Given the description of an element on the screen output the (x, y) to click on. 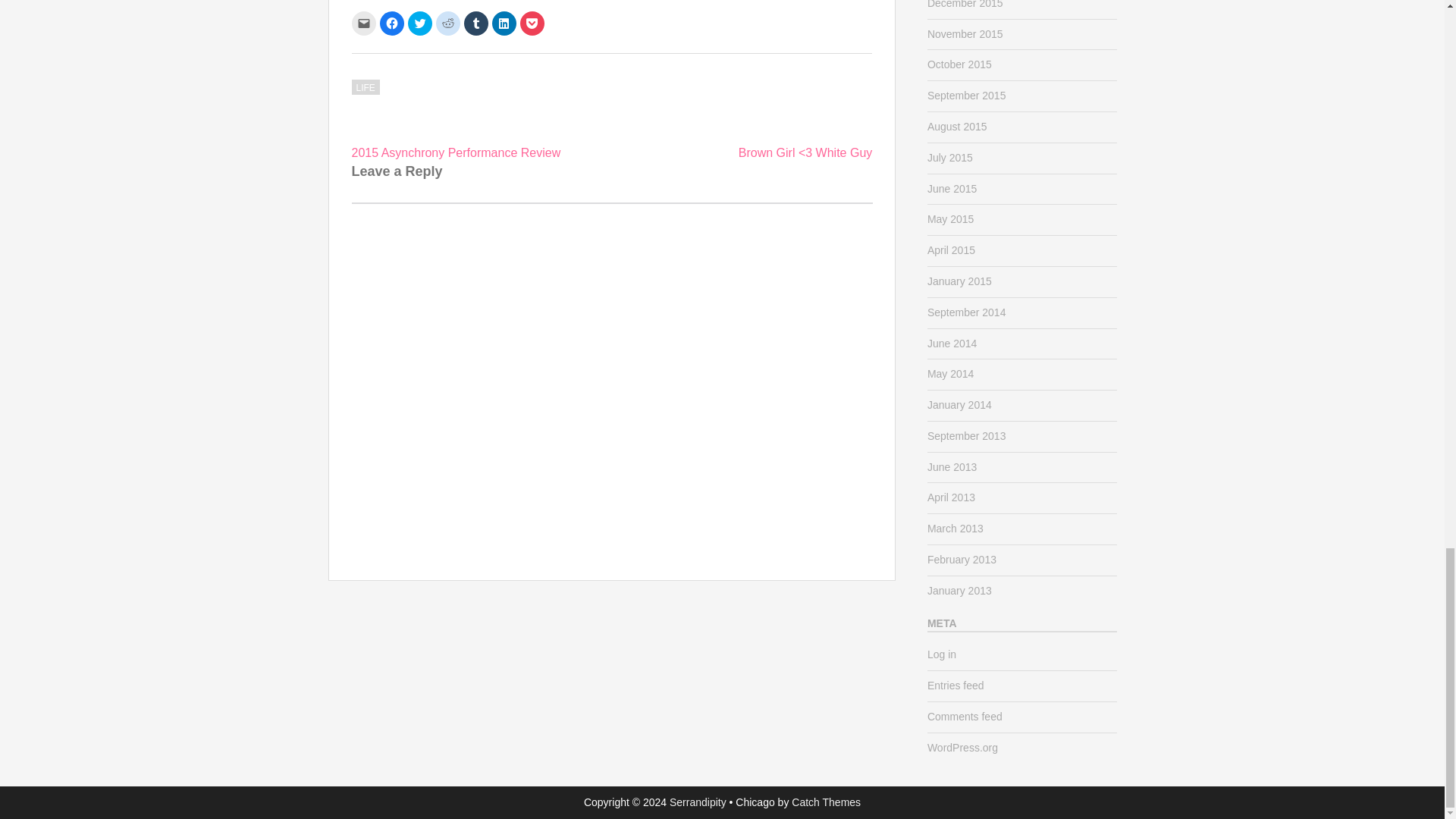
2015 Asynchrony Performance Review (456, 152)
Click to share on Tumblr (475, 23)
Click to share on Pocket (531, 23)
Click to share on Facebook (390, 23)
Click to share on Twitter (419, 23)
Click to share on LinkedIn (503, 23)
Click to email a link to a friend (363, 23)
LIFE (366, 87)
Click to share on Reddit (447, 23)
